Given the description of an element on the screen output the (x, y) to click on. 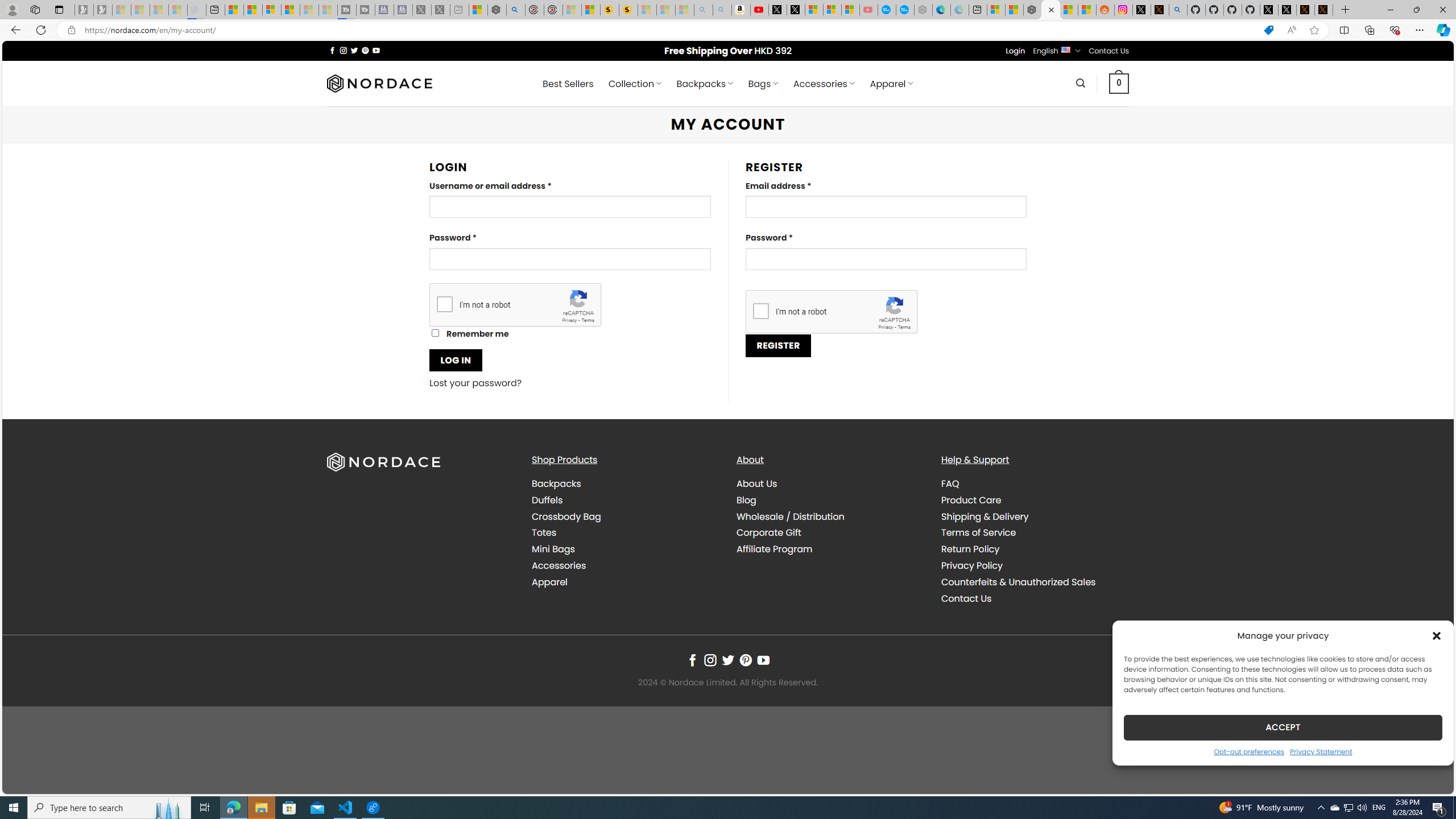
I'm not a robot (760, 310)
Privacy (885, 326)
Follow on Instagram (710, 659)
Amazon Echo Dot PNG - Search Images - Sleeping (721, 9)
Contact Us (1034, 598)
Lost your password? (475, 382)
Follow on YouTube (763, 659)
github - Search (1178, 9)
